Given the description of an element on the screen output the (x, y) to click on. 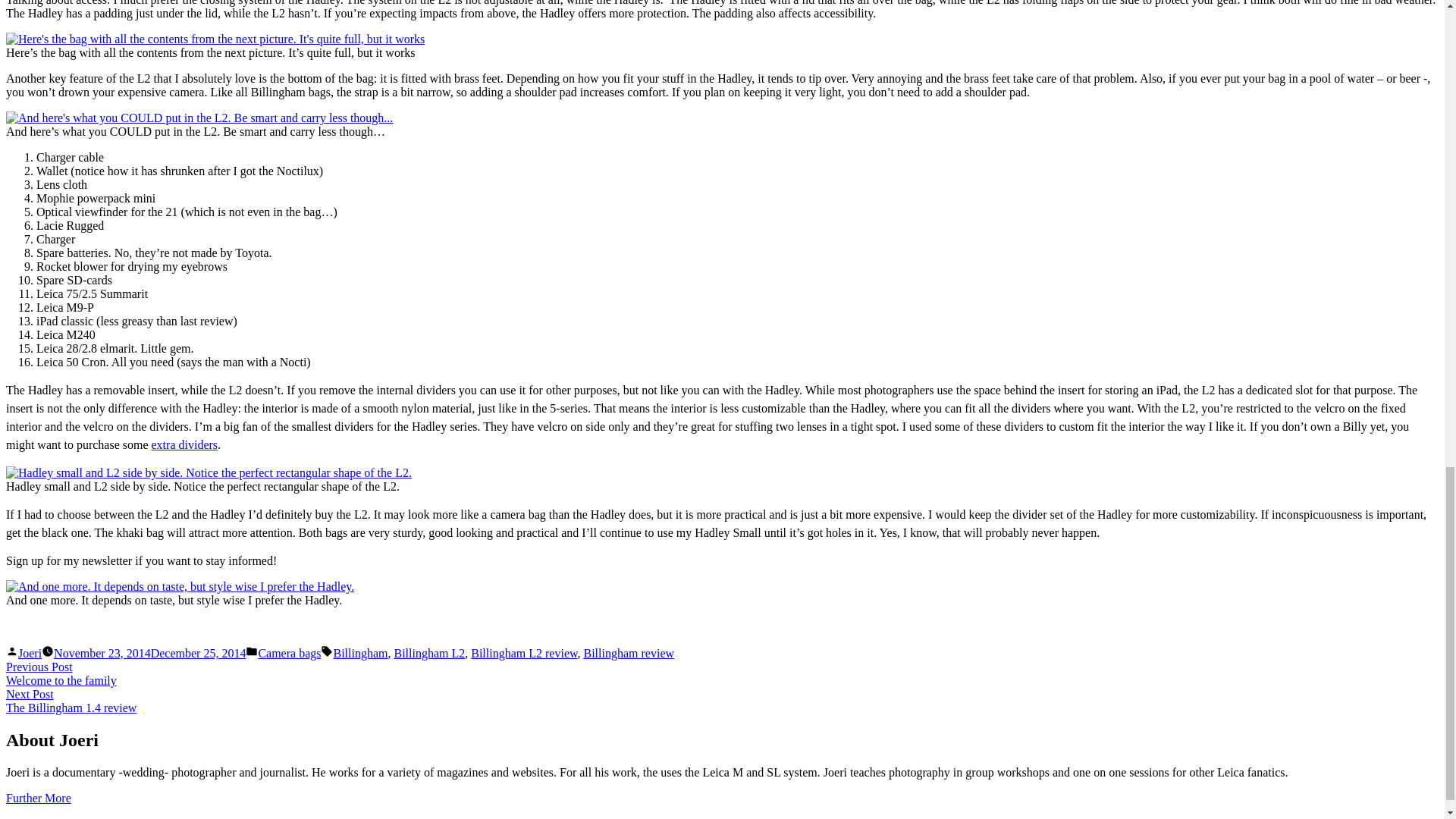
Billingham review (629, 653)
Further More (38, 797)
Billingham L2 (428, 653)
Billingham L2 review (523, 653)
extra dividers (184, 444)
Joeri (70, 700)
November 23, 2014December 25, 2014 (29, 653)
Billingham (149, 653)
Extra dividers (360, 653)
